Given the description of an element on the screen output the (x, y) to click on. 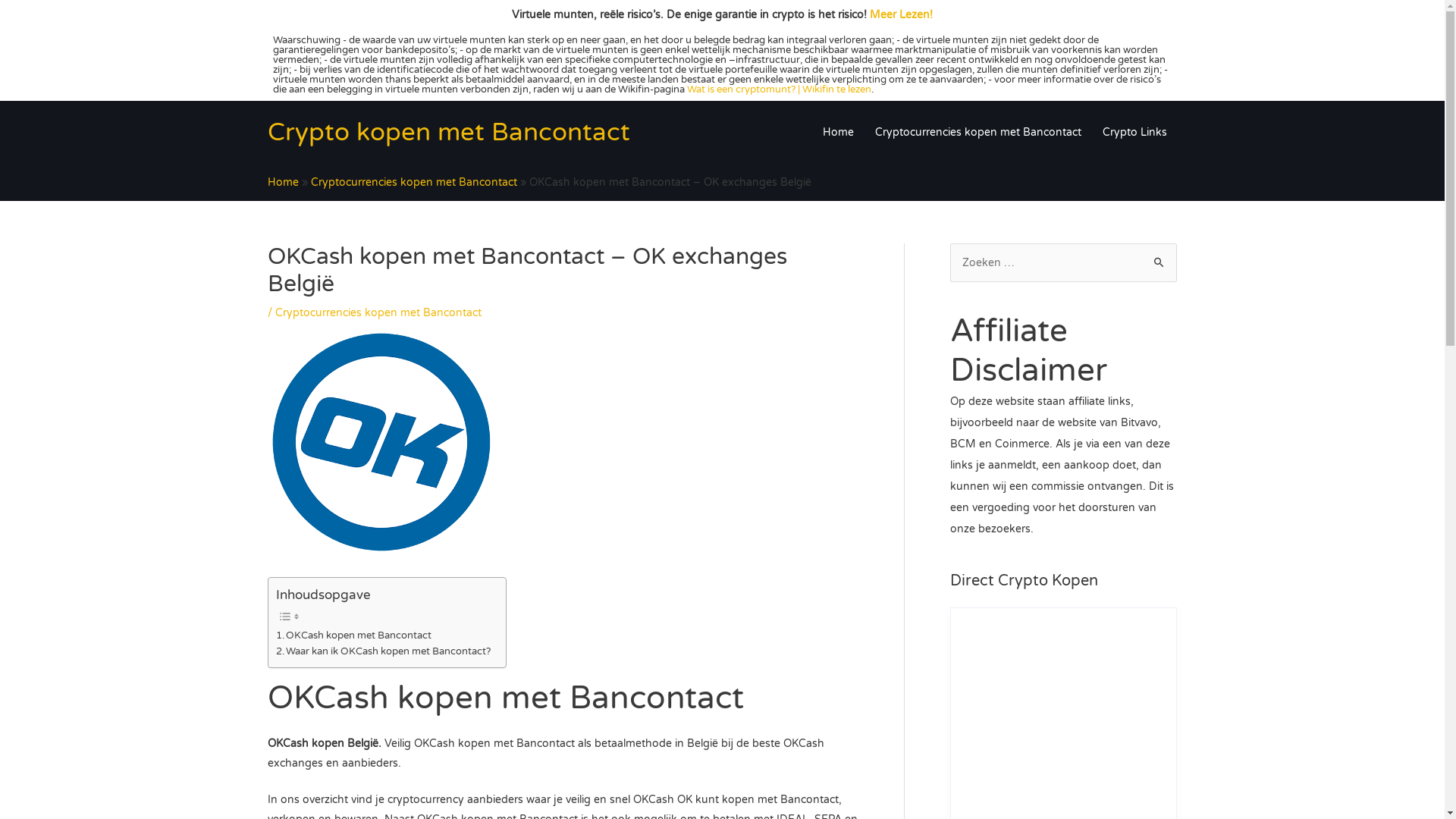
OKCash kopen met Bancontact Element type: text (354, 635)
Home Element type: text (837, 132)
Cryptocurrencies kopen met Bancontact Element type: text (413, 181)
Zoeken Element type: text (1159, 262)
Wat is een cryptomunt? | Wikifin te lezen Element type: text (779, 89)
Cryptocurrencies kopen met Bancontact Element type: text (377, 312)
Crypto kopen met Bancontact Element type: text (447, 132)
Waar kan ik OKCash kopen met Bancontact? Element type: text (383, 651)
Meer Lezen! Element type: text (900, 14)
Crypto Links Element type: text (1134, 132)
Cryptocurrencies kopen met Bancontact Element type: text (978, 132)
Home Element type: text (282, 181)
